Given the description of an element on the screen output the (x, y) to click on. 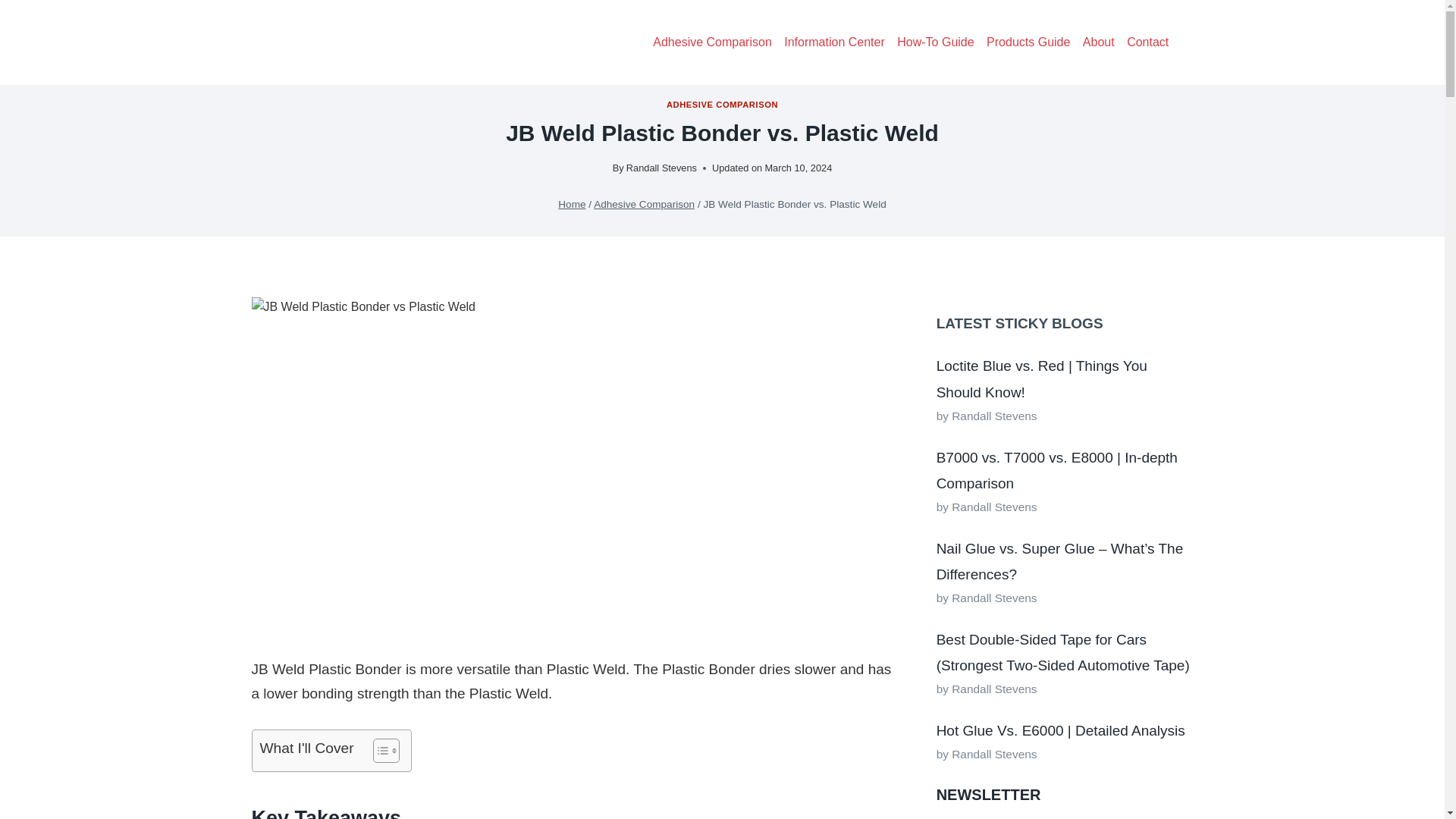
Products Guide (1028, 42)
How-To Guide (935, 42)
Home (571, 204)
Adhesive Comparison (644, 204)
Adhesive Comparison (711, 42)
Information Center (834, 42)
ADHESIVE COMPARISON (721, 103)
